Given the description of an element on the screen output the (x, y) to click on. 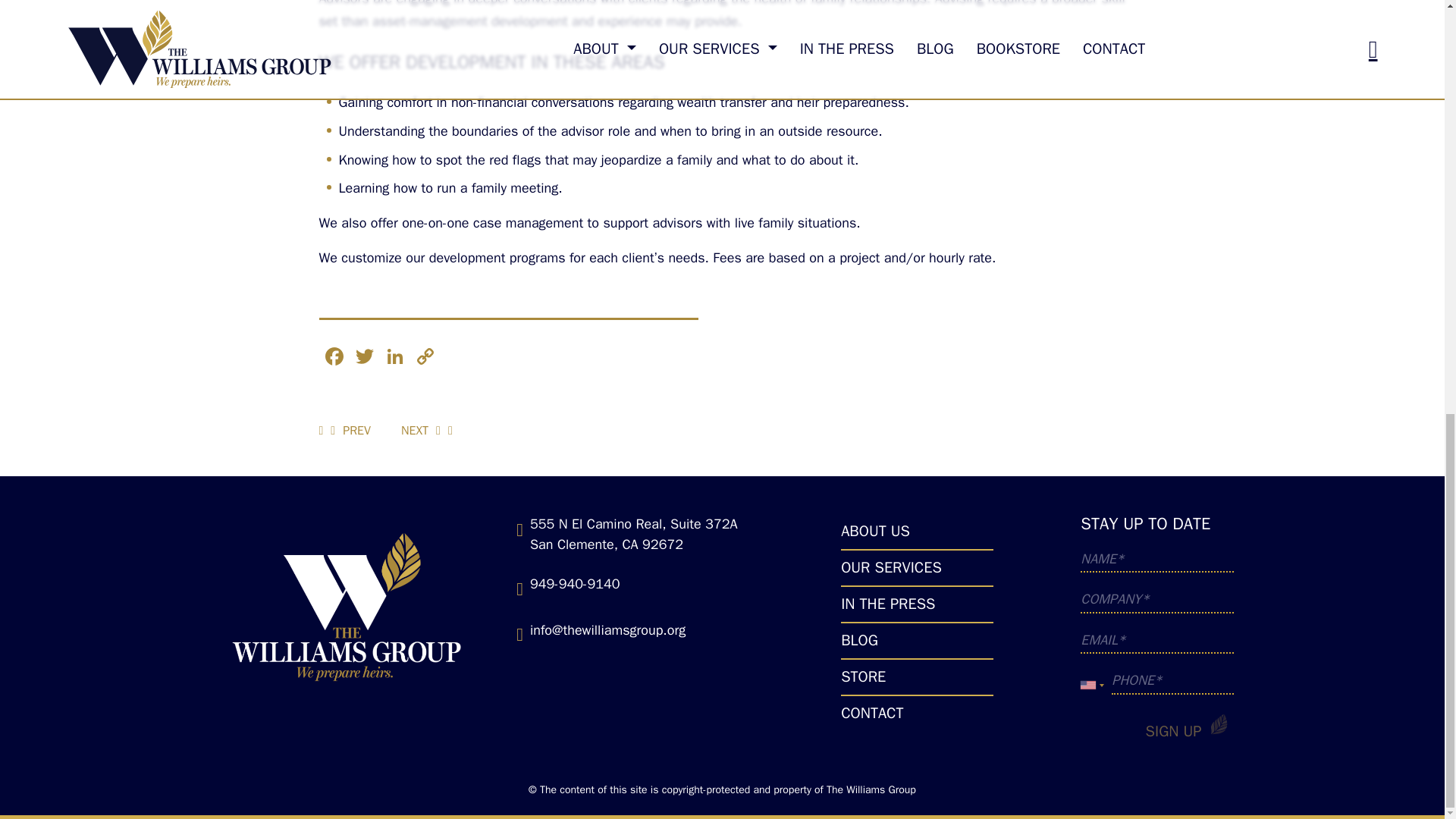
555 N El Camino Real, Suite 372A San Clemente, CA 92672 (633, 533)
PREV (350, 430)
LinkedIn (393, 358)
Copy Link (424, 358)
Facebook (333, 358)
Twitter (363, 358)
NEXT (421, 430)
949-940-9140 (574, 583)
